Given the description of an element on the screen output the (x, y) to click on. 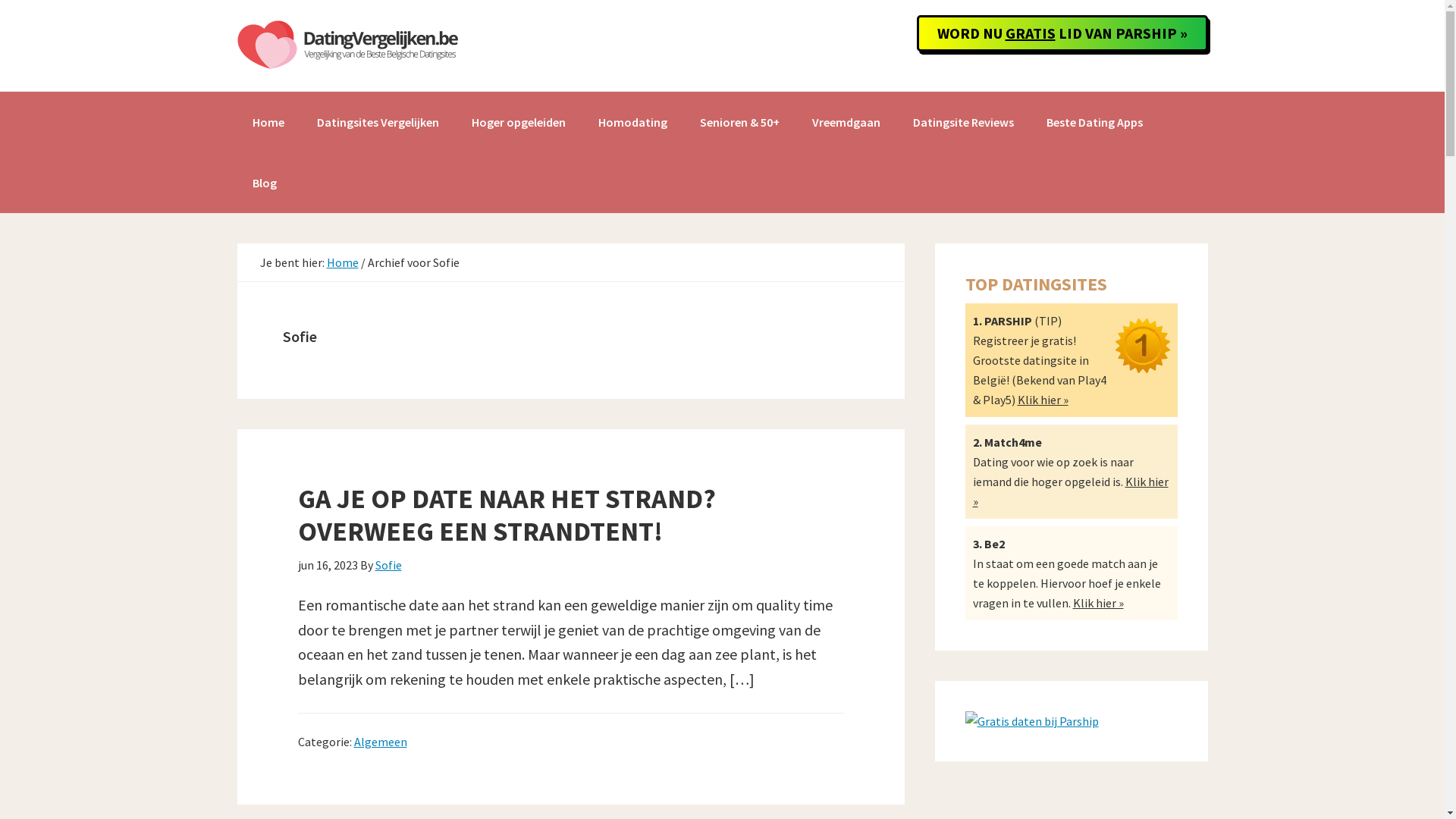
Home Element type: text (267, 121)
Beste Dating Apps Element type: text (1094, 121)
GA JE OP DATE NAAR HET STRAND? OVERWEEG EEN STRANDTENT! Element type: text (506, 514)
Sofie Element type: text (387, 564)
Home Element type: text (341, 261)
Blog Element type: text (263, 182)
Datingsite Reviews Element type: text (963, 121)
Senioren & 50+ Element type: text (738, 121)
Algemeen Element type: text (379, 741)
Spring naar de hoofdnavigatie Element type: text (0, 0)
Hoger opgeleiden Element type: text (518, 121)
Dating Vergelijken Element type: text (350, 45)
Datingsites Vergelijken Element type: text (377, 121)
Homodating Element type: text (631, 121)
Vreemdgaan Element type: text (845, 121)
